Given the description of an element on the screen output the (x, y) to click on. 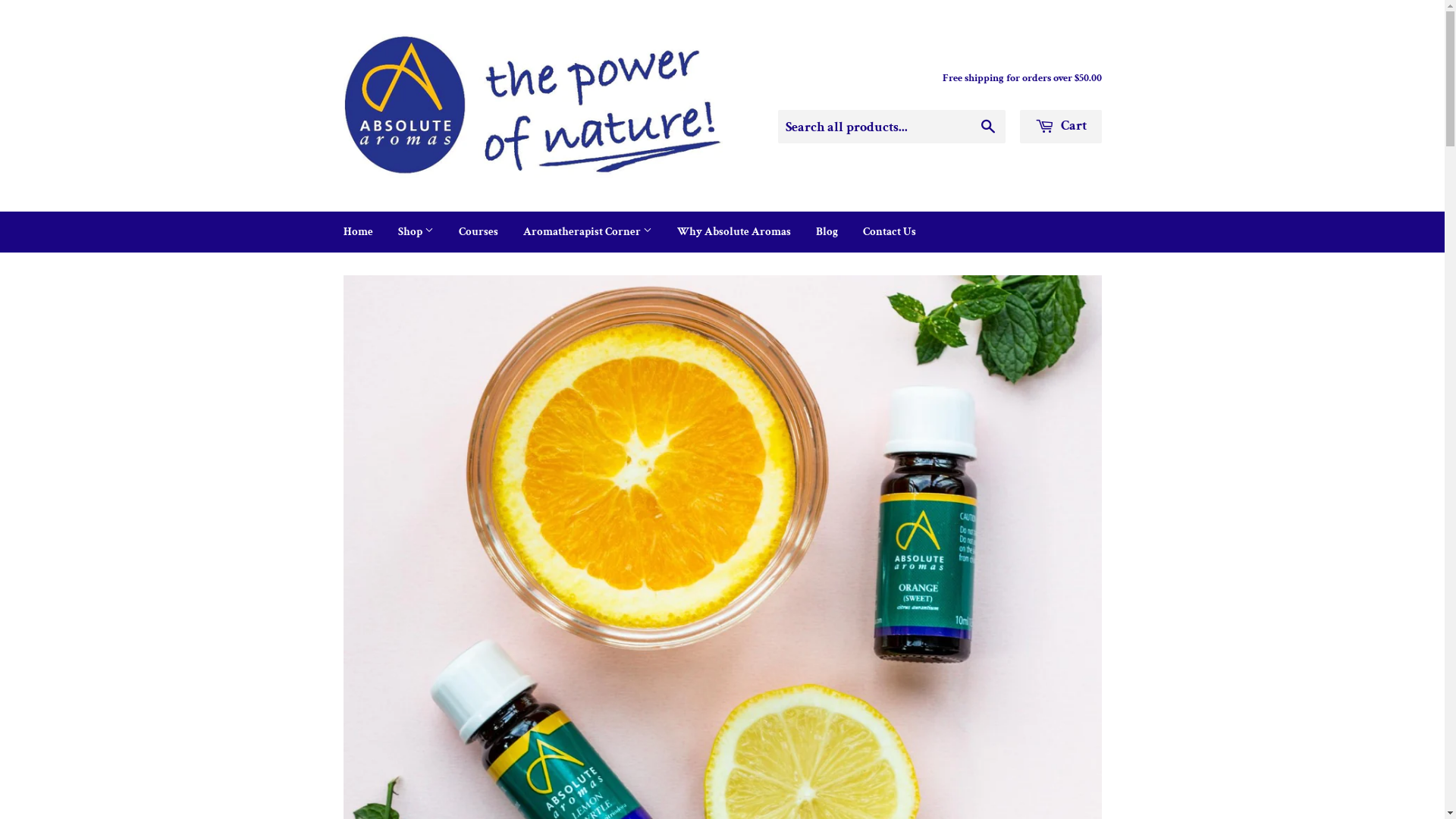
Free shipping for orders over $50.00 Element type: text (1021, 78)
Blog Element type: text (825, 231)
Aromatherapist Corner Element type: text (586, 231)
Search Element type: text (987, 127)
Cart Element type: text (1060, 126)
Home Element type: text (358, 231)
Why Absolute Aromas Element type: text (733, 231)
Shop Element type: text (415, 231)
Courses Element type: text (478, 231)
Contact Us Element type: text (888, 231)
